Given the description of an element on the screen output the (x, y) to click on. 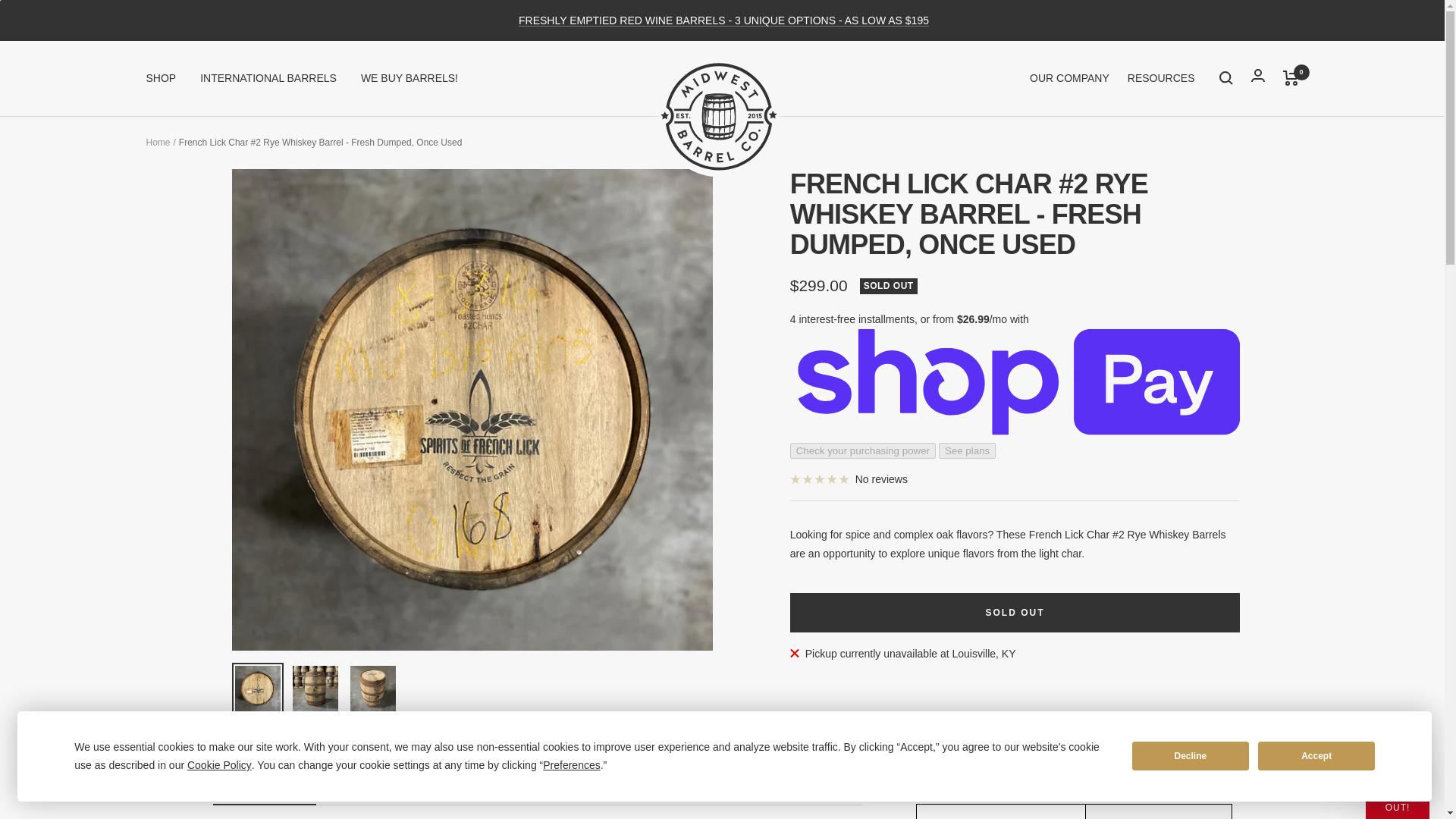
Accept (1315, 756)
0 (1290, 77)
WE BUY BARRELS! (537, 789)
RESOURCES (537, 789)
INTERNATIONAL BARRELS (409, 77)
No reviews (1160, 77)
SHIPPING (268, 77)
OUR COMPANY (848, 479)
DESCRIPTION (406, 789)
SOLD OUT (1069, 77)
Home (263, 789)
Decline (1015, 612)
SHOP (157, 142)
